Given the description of an element on the screen output the (x, y) to click on. 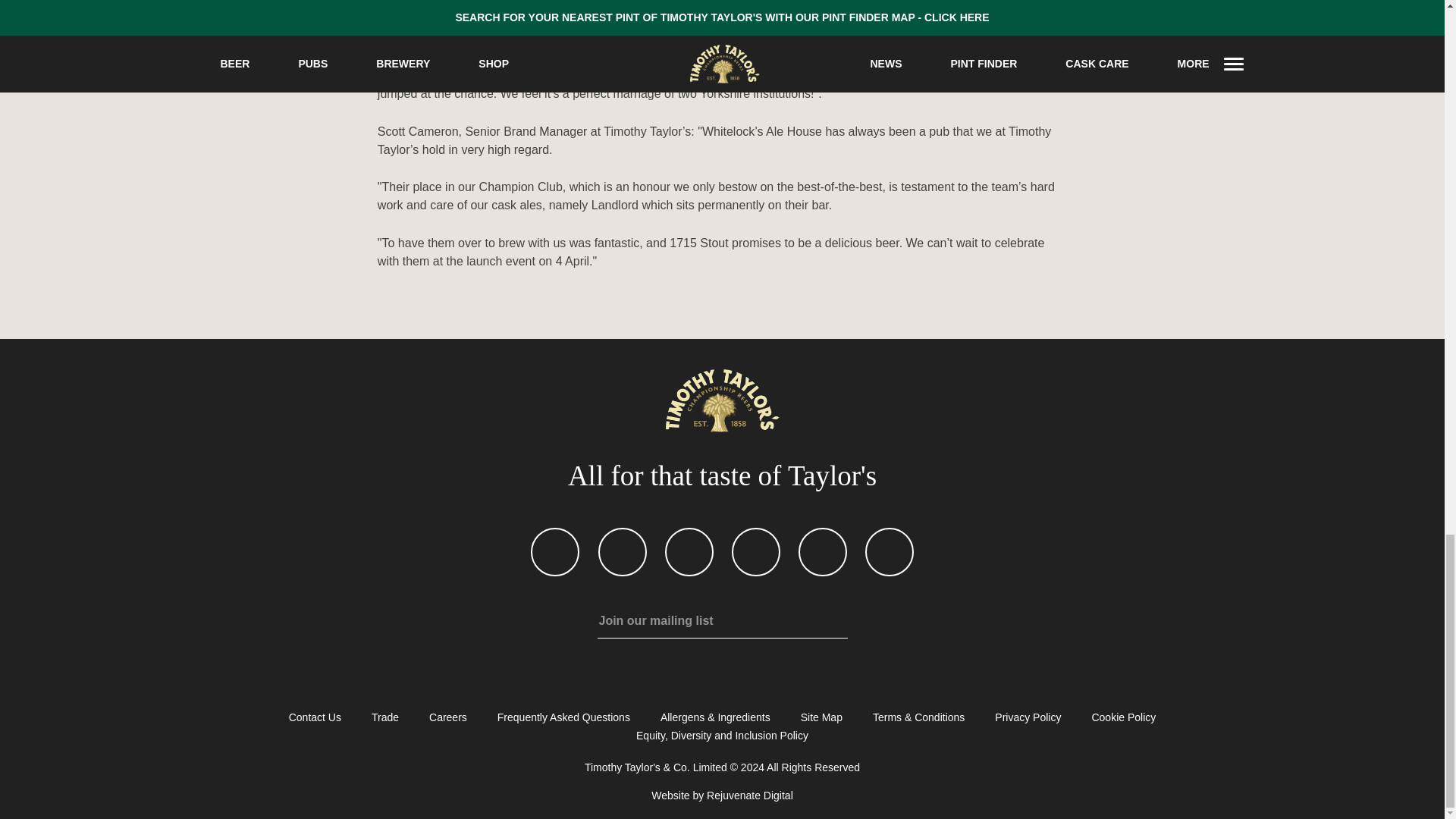
X (621, 553)
Instagram (821, 553)
Youtube (688, 553)
Instagram (754, 553)
Untappd (888, 553)
Facebook (555, 553)
